Given the description of an element on the screen output the (x, y) to click on. 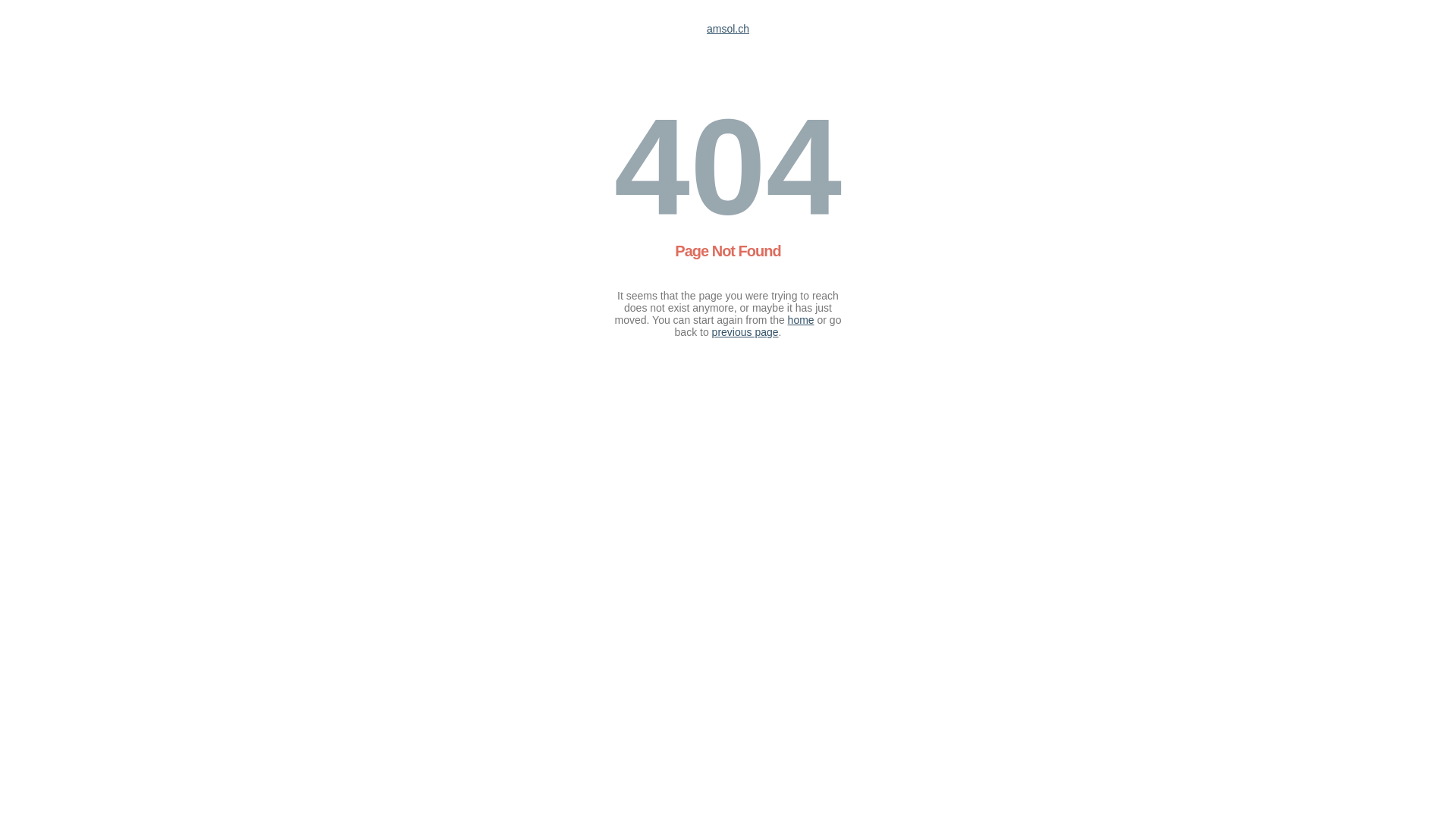
home Element type: text (800, 319)
amsol.ch Element type: text (727, 28)
previous page Element type: text (745, 332)
